Given the description of an element on the screen output the (x, y) to click on. 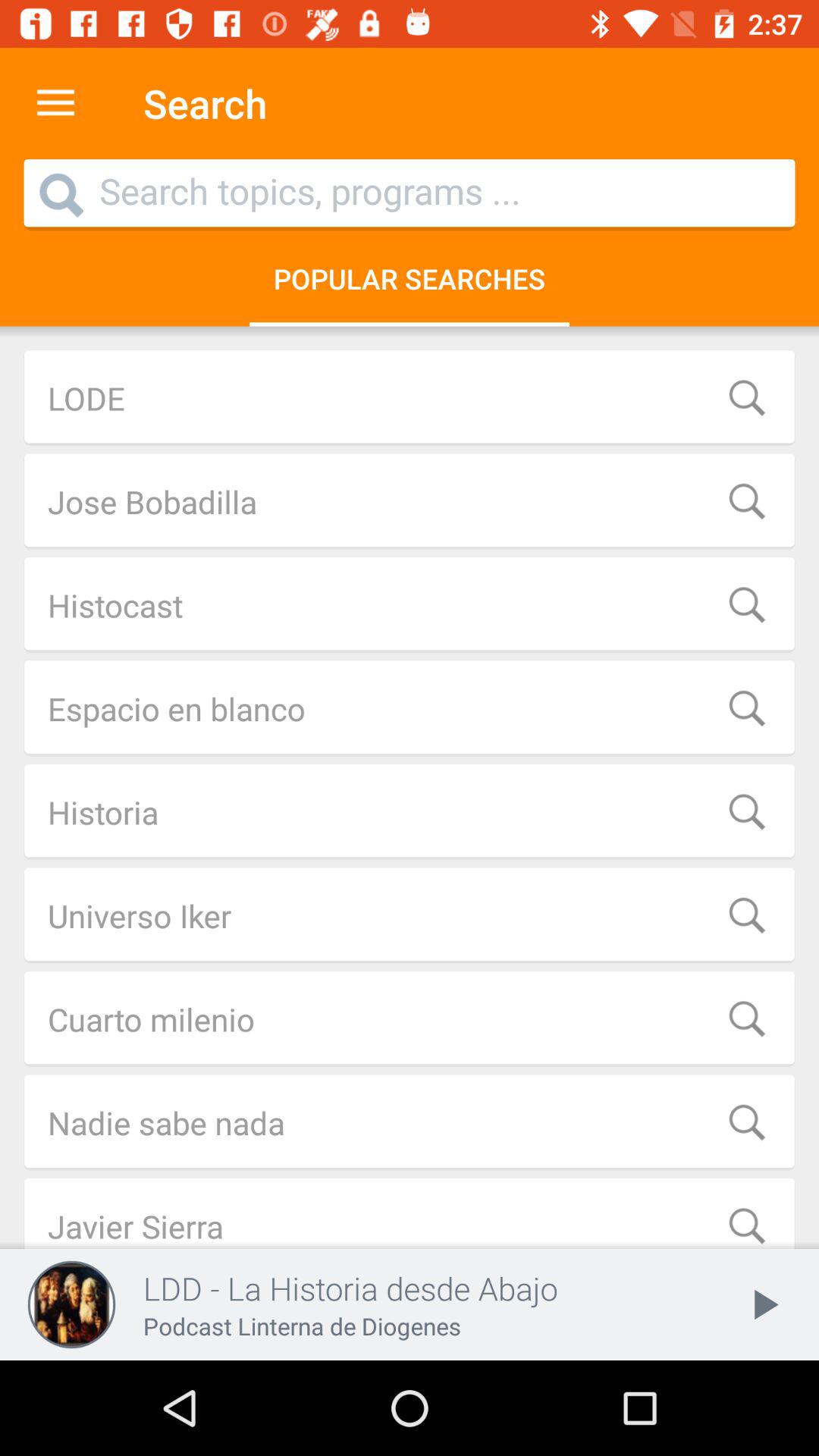
select the icon below histocast item (409, 708)
